Given the description of an element on the screen output the (x, y) to click on. 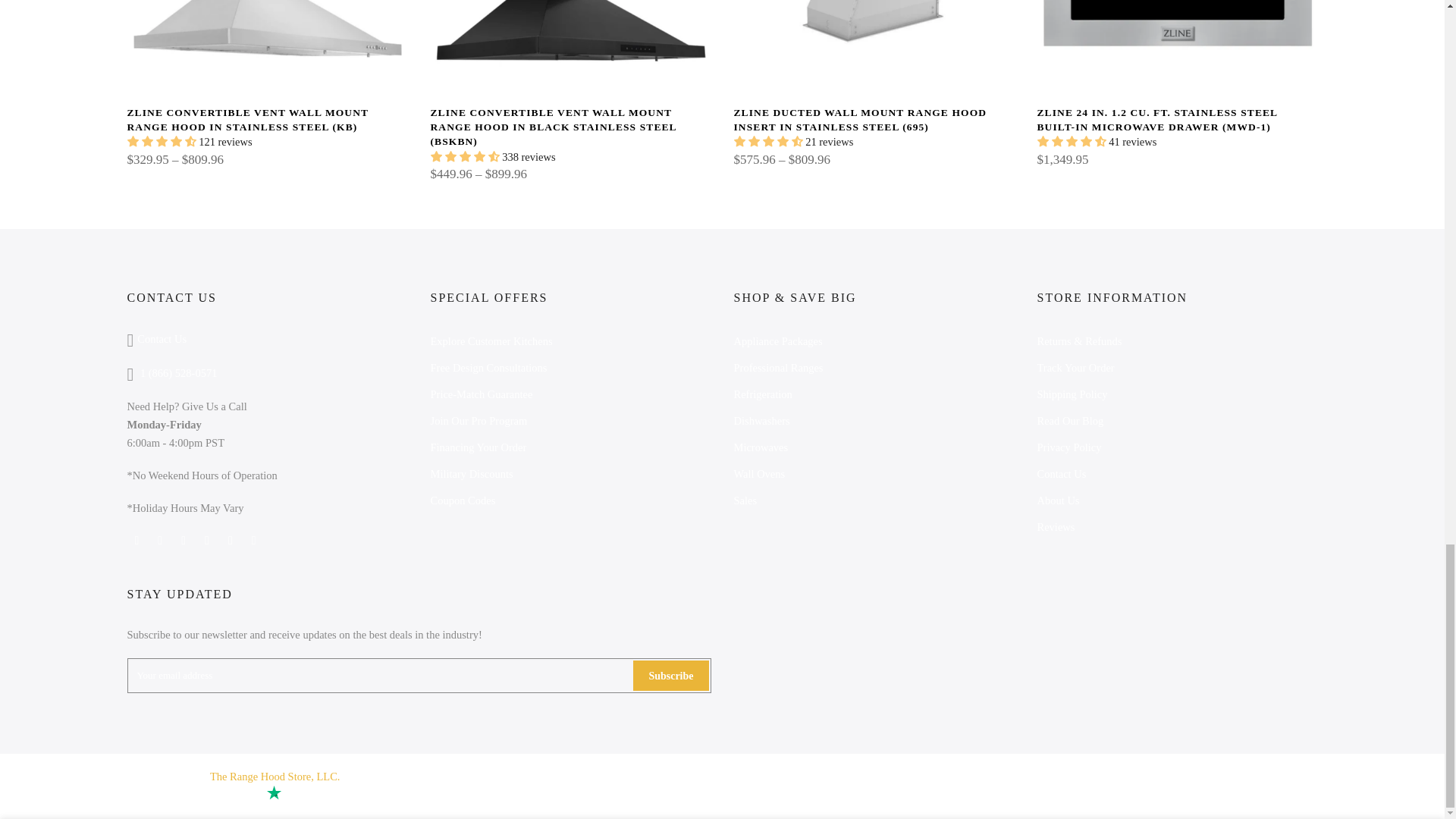
Customer reviews powered by Trustpilot (241, 794)
